Given the description of an element on the screen output the (x, y) to click on. 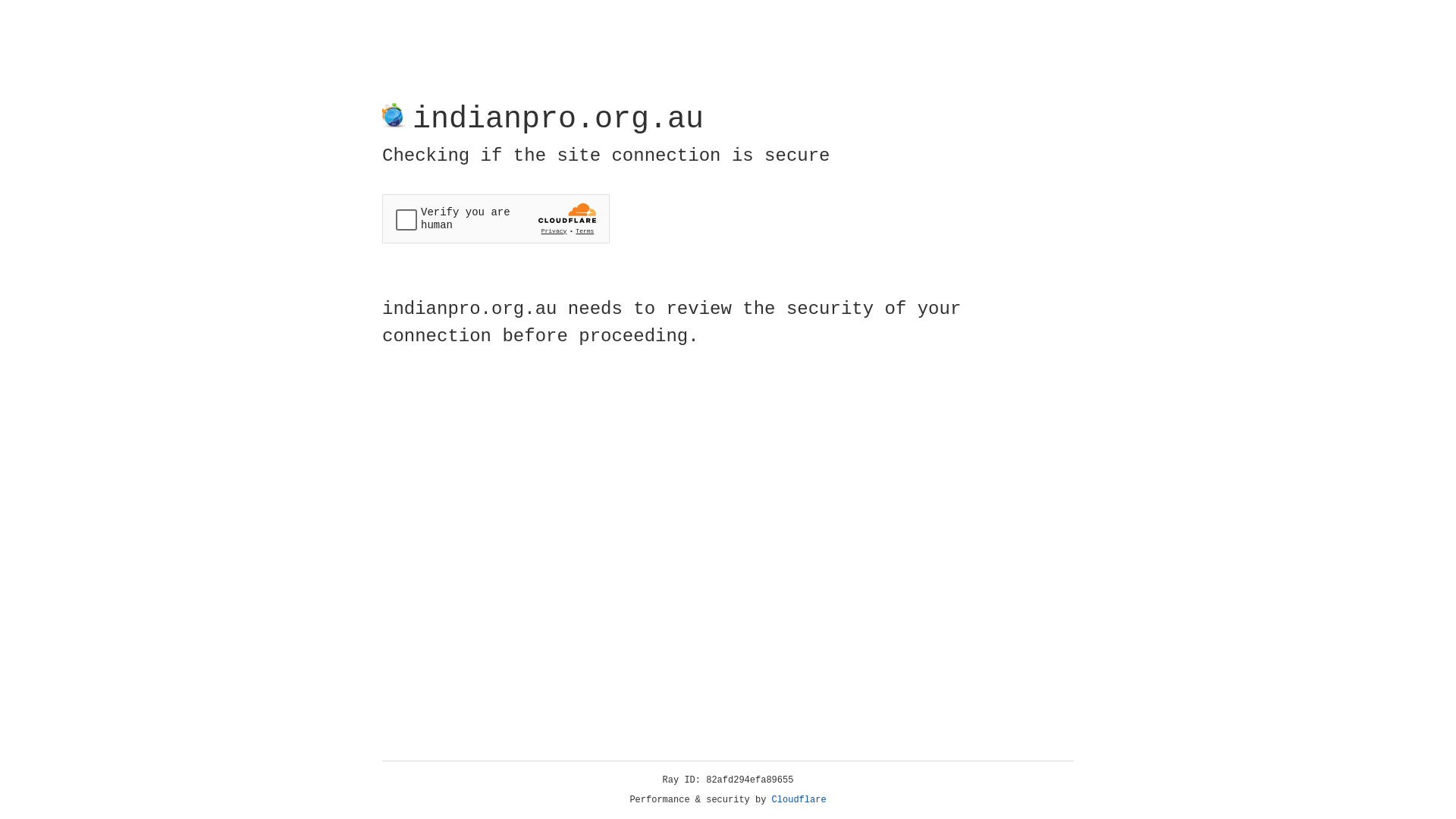
Widget containing a Cloudflare security challenge Element type: hover (495, 218)
Cloudflare Element type: text (798, 799)
